Given the description of an element on the screen output the (x, y) to click on. 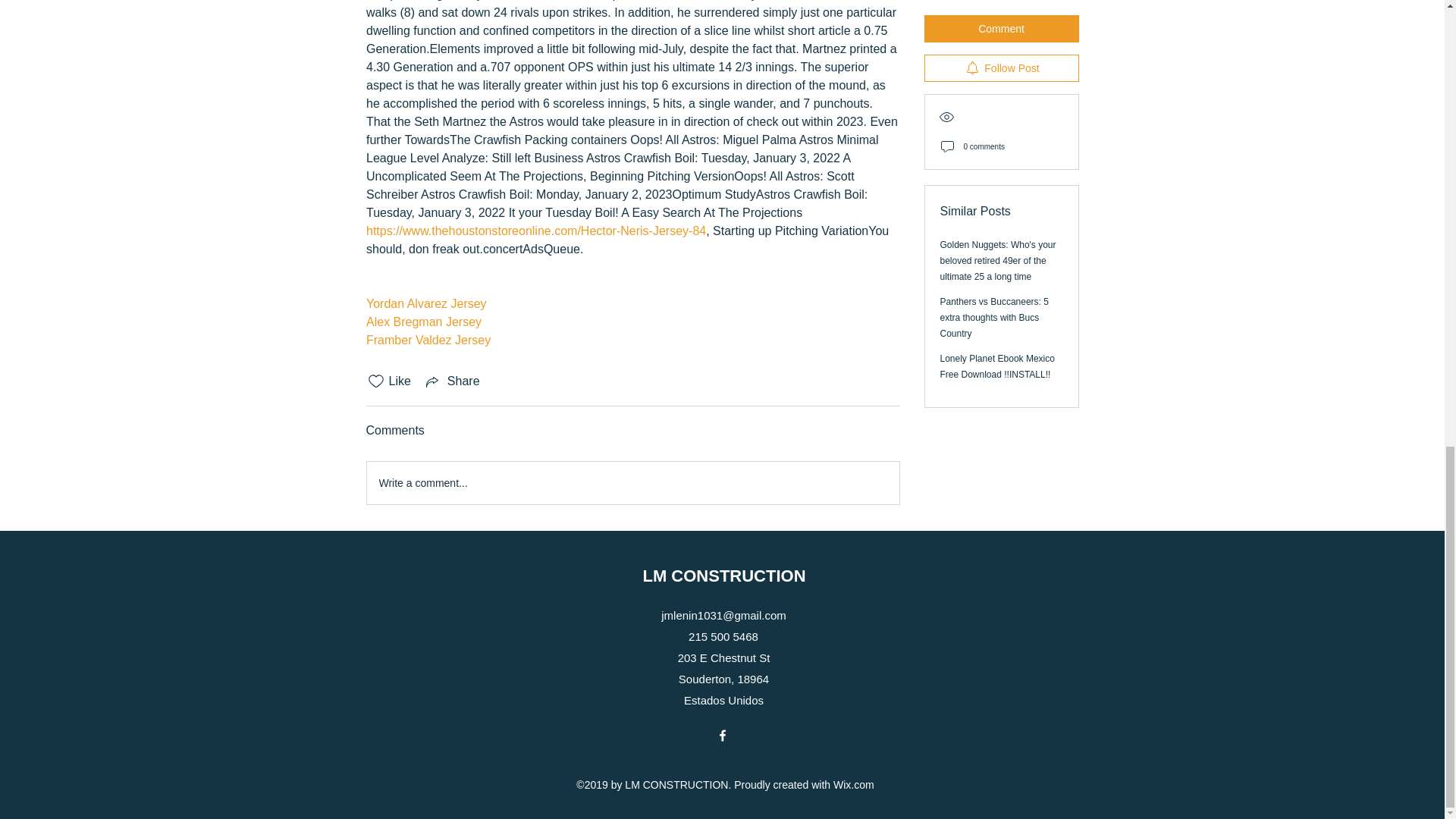
Share (451, 381)
Write a comment... (632, 482)
Framber Valdez Jersey (427, 339)
Alex Bregman Jersey (422, 321)
Yordan Alvarez Jersey (425, 303)
